Given the description of an element on the screen output the (x, y) to click on. 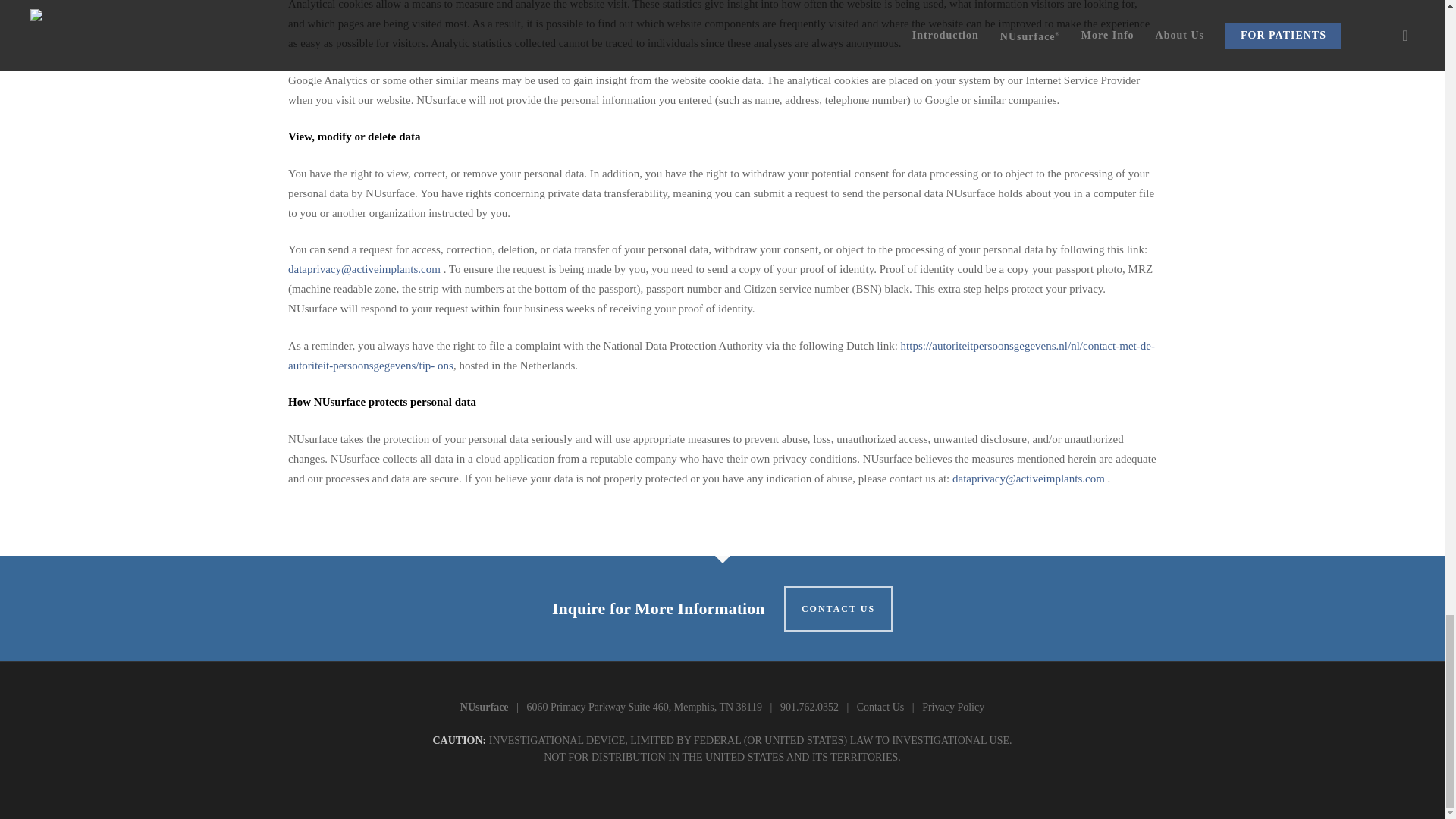
CONTACT US (838, 608)
Privacy Policy (952, 706)
Contact Us (880, 706)
ons (442, 365)
